Given the description of an element on the screen output the (x, y) to click on. 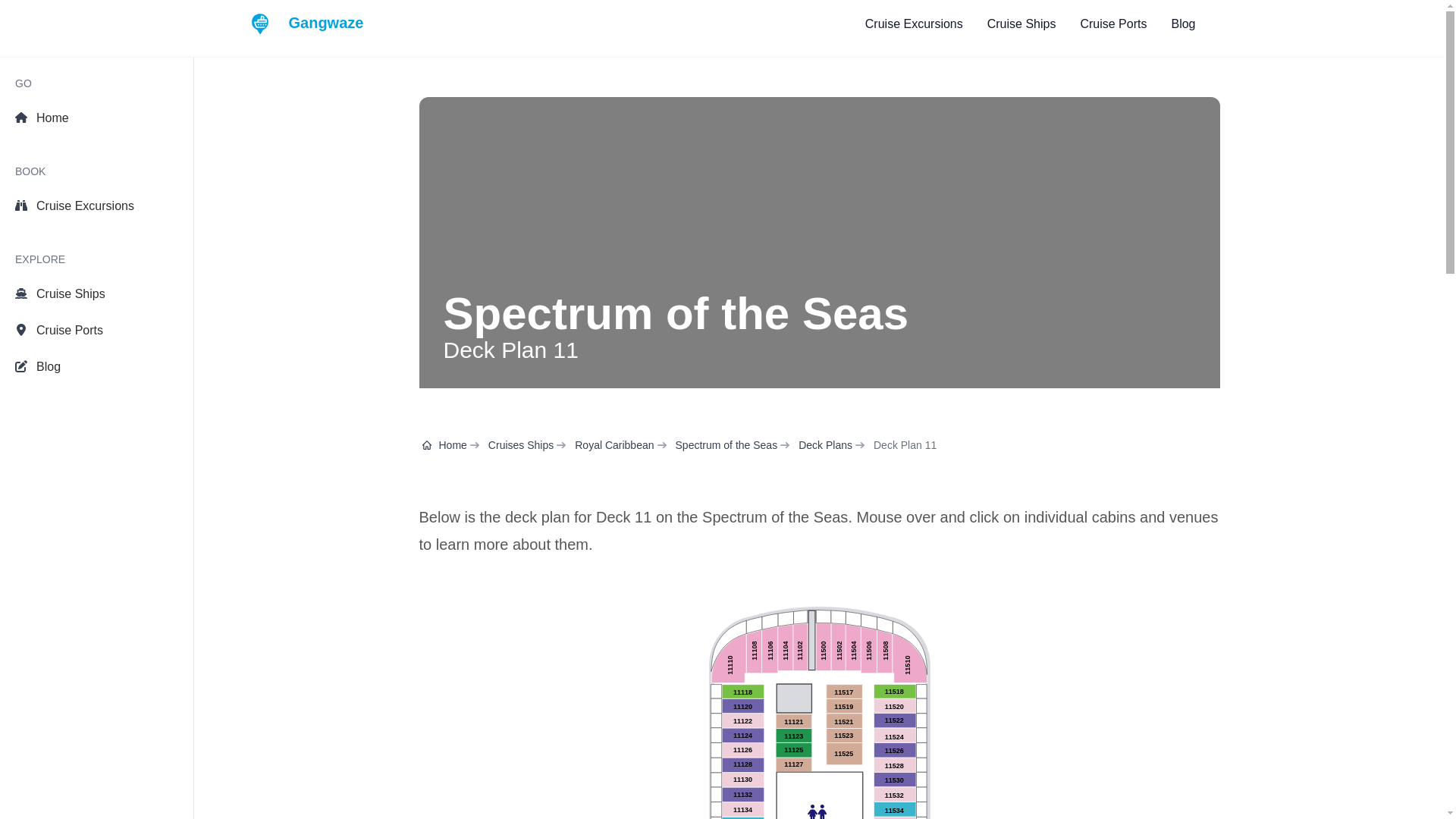
Blog (1182, 24)
Home (443, 444)
Gangwaze (305, 24)
Home (96, 118)
Deck Plans (824, 444)
Blog (96, 367)
Cruise Ports (96, 330)
Cruise Ships (96, 294)
Spectrum of the Seas (726, 444)
